Given the description of an element on the screen output the (x, y) to click on. 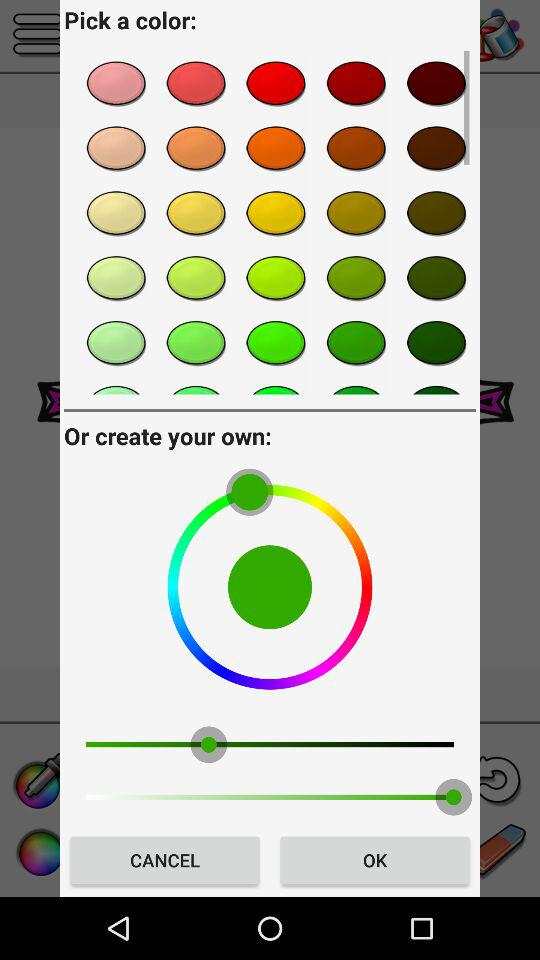
choose ok item (374, 859)
